Given the description of an element on the screen output the (x, y) to click on. 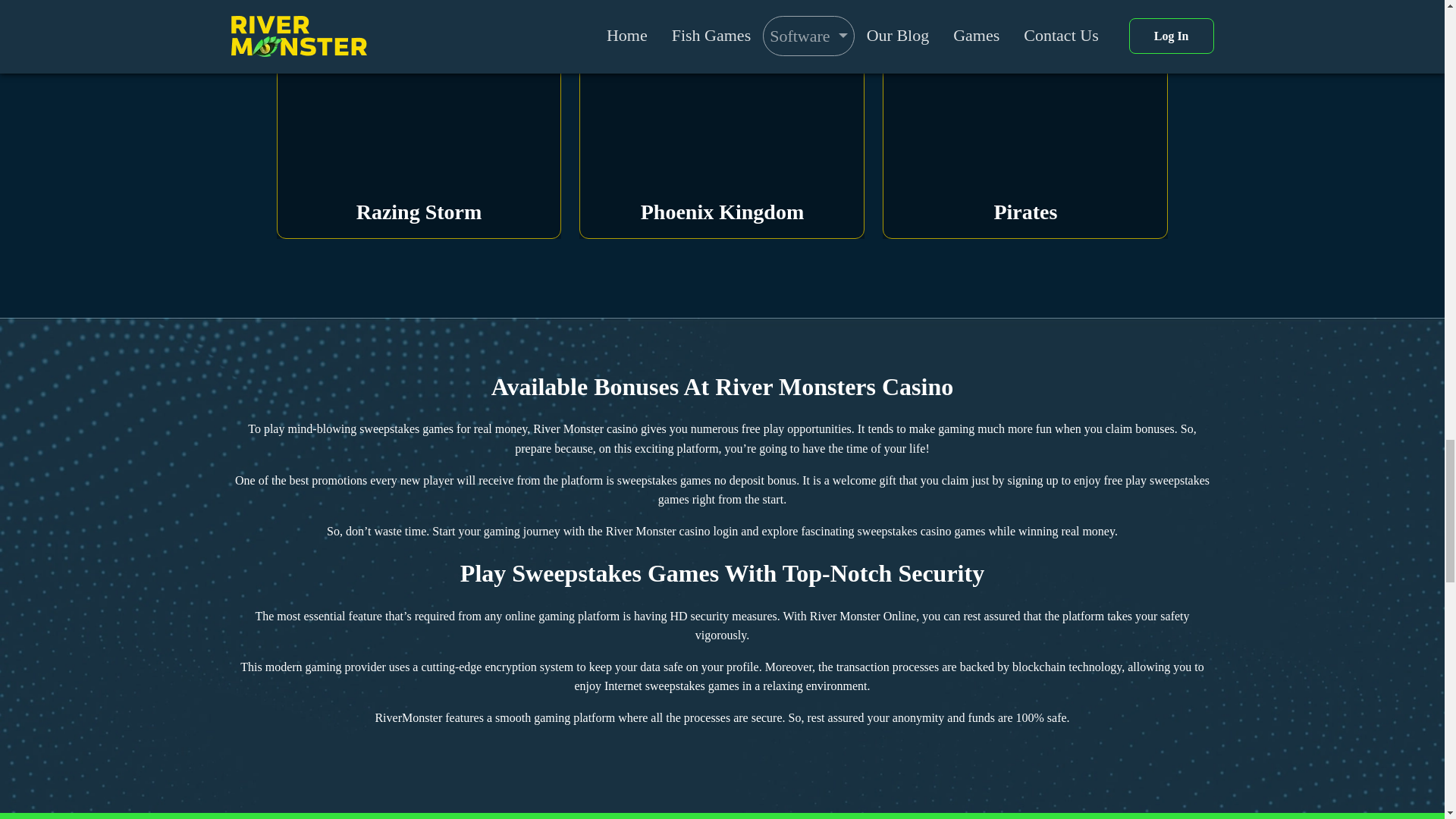
Razing Storm (418, 126)
Pirates (1024, 126)
Phoenix Kingdom (721, 126)
